Given the description of an element on the screen output the (x, y) to click on. 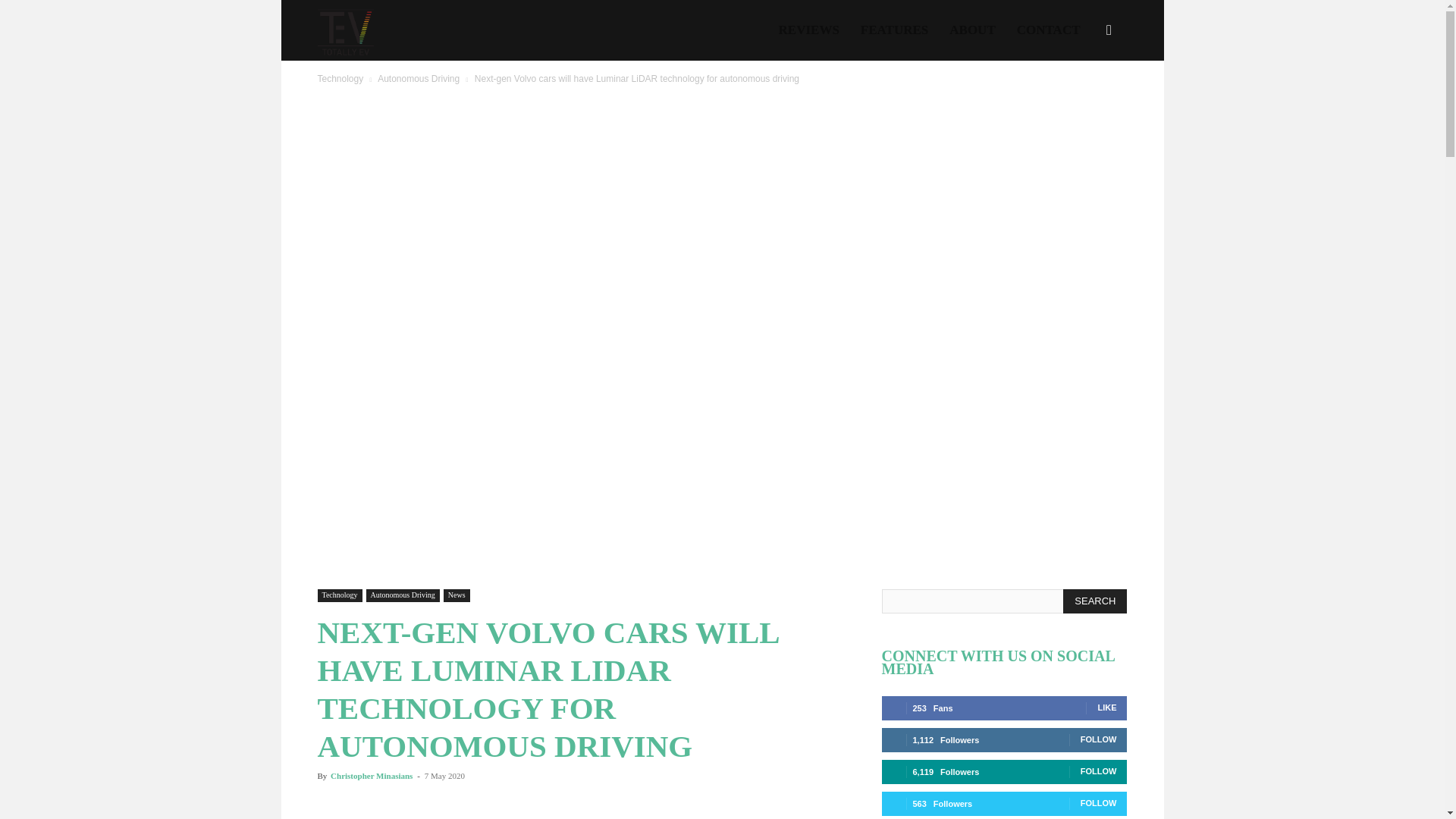
Search (1085, 102)
News (457, 594)
Autonomous Driving (402, 594)
FEATURES (894, 30)
Christopher Minasians (371, 775)
Technology (339, 78)
ABOUT (972, 30)
REVIEWS (809, 30)
View all posts in Technology (339, 78)
TotallyEV (344, 30)
